Given the description of an element on the screen output the (x, y) to click on. 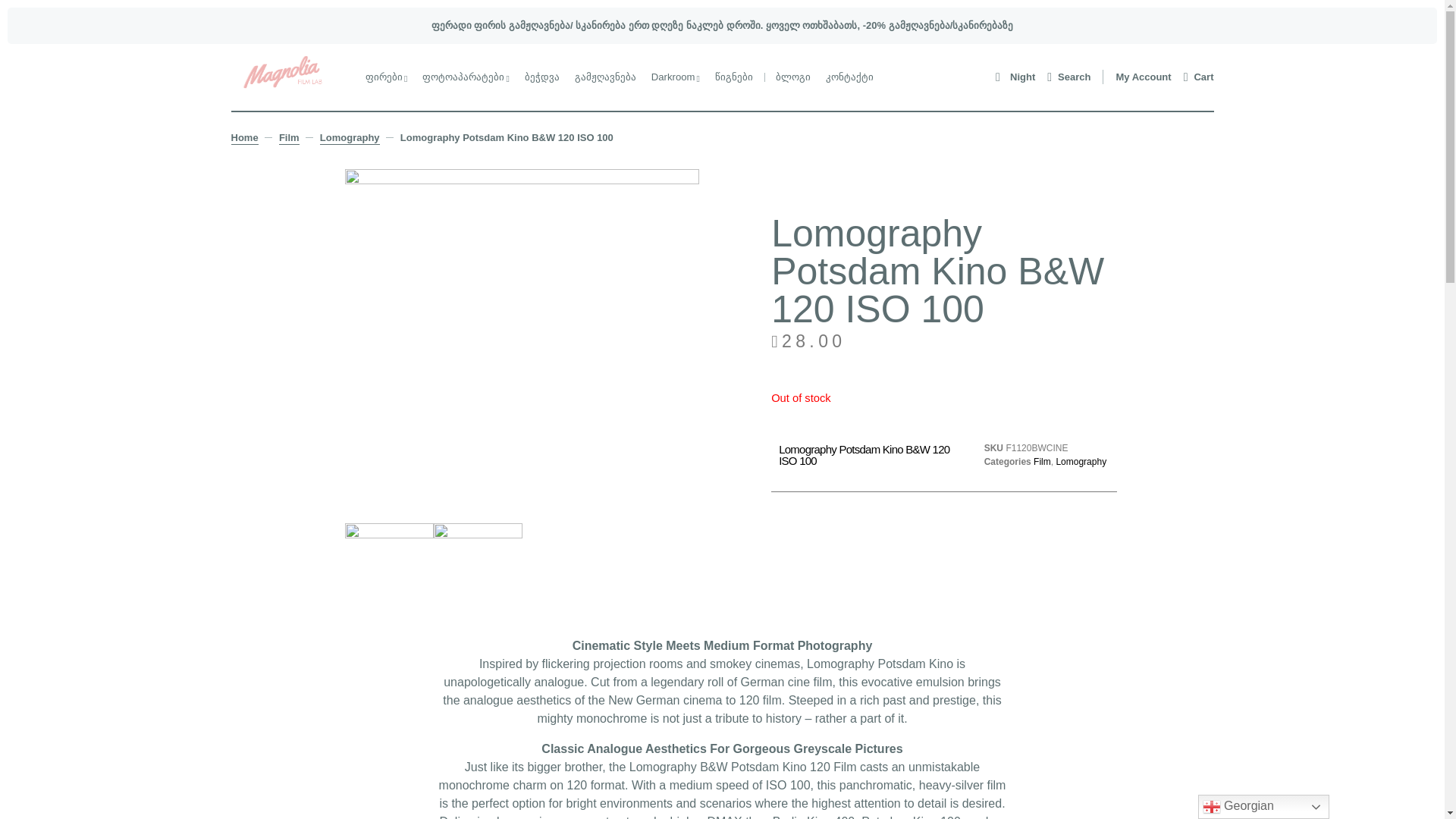
0481550535 (389, 551)
View your shopping cart (1198, 77)
lomo-lomography-potsdam-kino-b-w-120-iso-100-singl (477, 552)
